Given the description of an element on the screen output the (x, y) to click on. 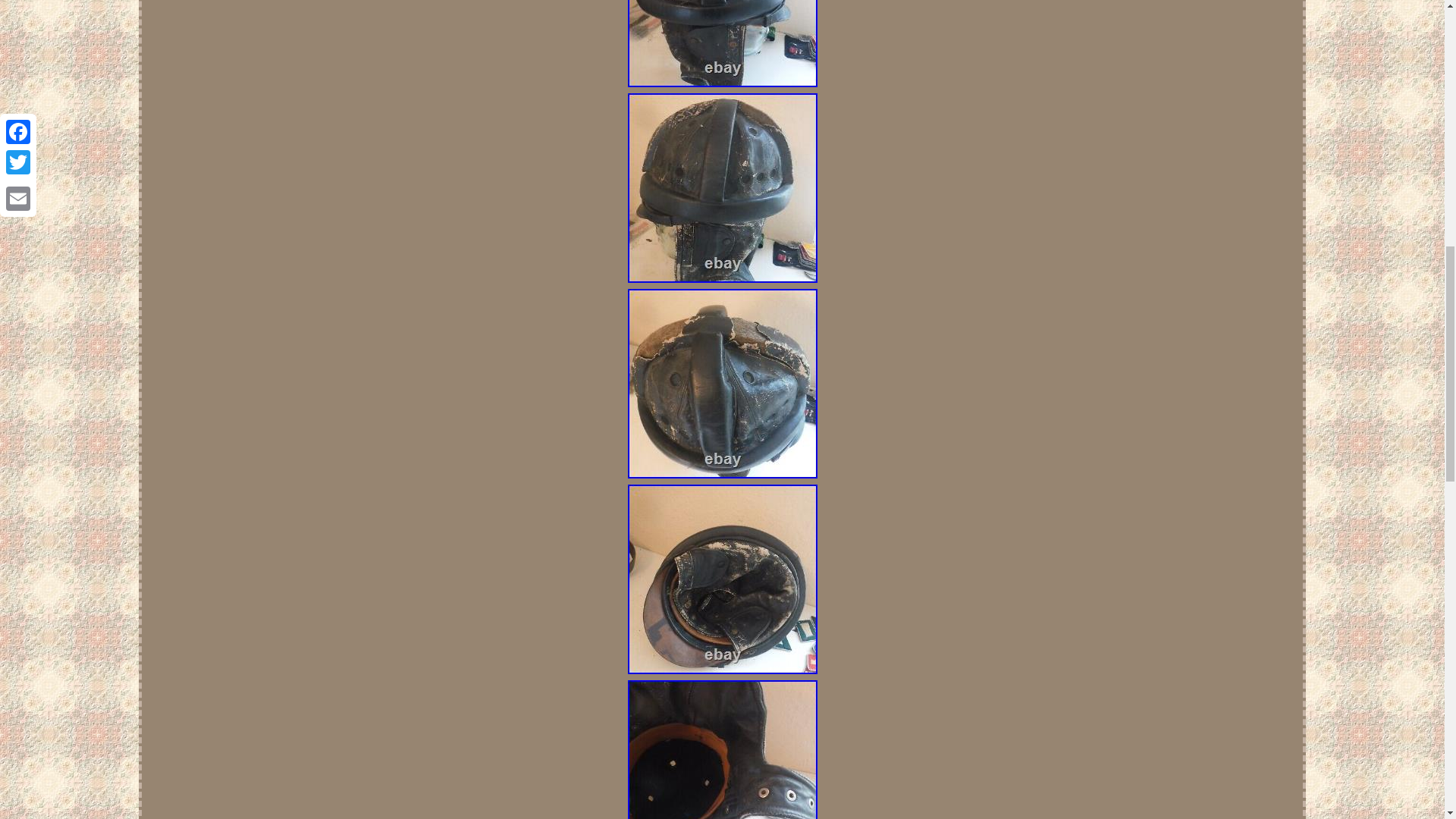
German WW2 Luftwaffe Dispatch Riders Crash Helmet (721, 383)
German WW2 Luftwaffe Dispatch Riders Crash Helmet (721, 579)
German WW2 Luftwaffe Dispatch Riders Crash Helmet (721, 187)
German WW2 Luftwaffe Dispatch Riders Crash Helmet (721, 749)
German WW2 Luftwaffe Dispatch Riders Crash Helmet (721, 43)
